Given the description of an element on the screen output the (x, y) to click on. 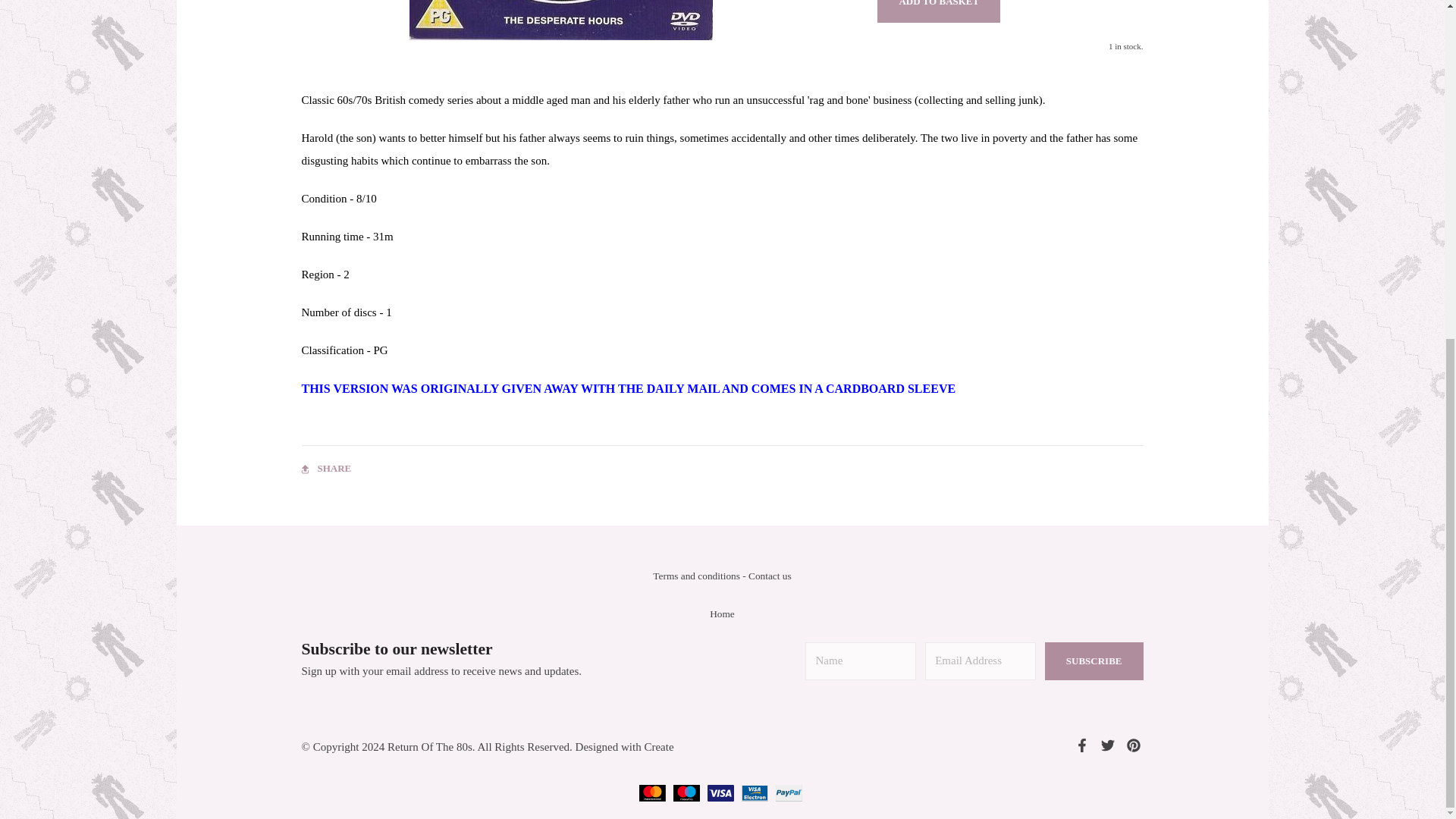
twitter (1107, 747)
pinterest (1133, 747)
facebook (1081, 747)
